Given the description of an element on the screen output the (x, y) to click on. 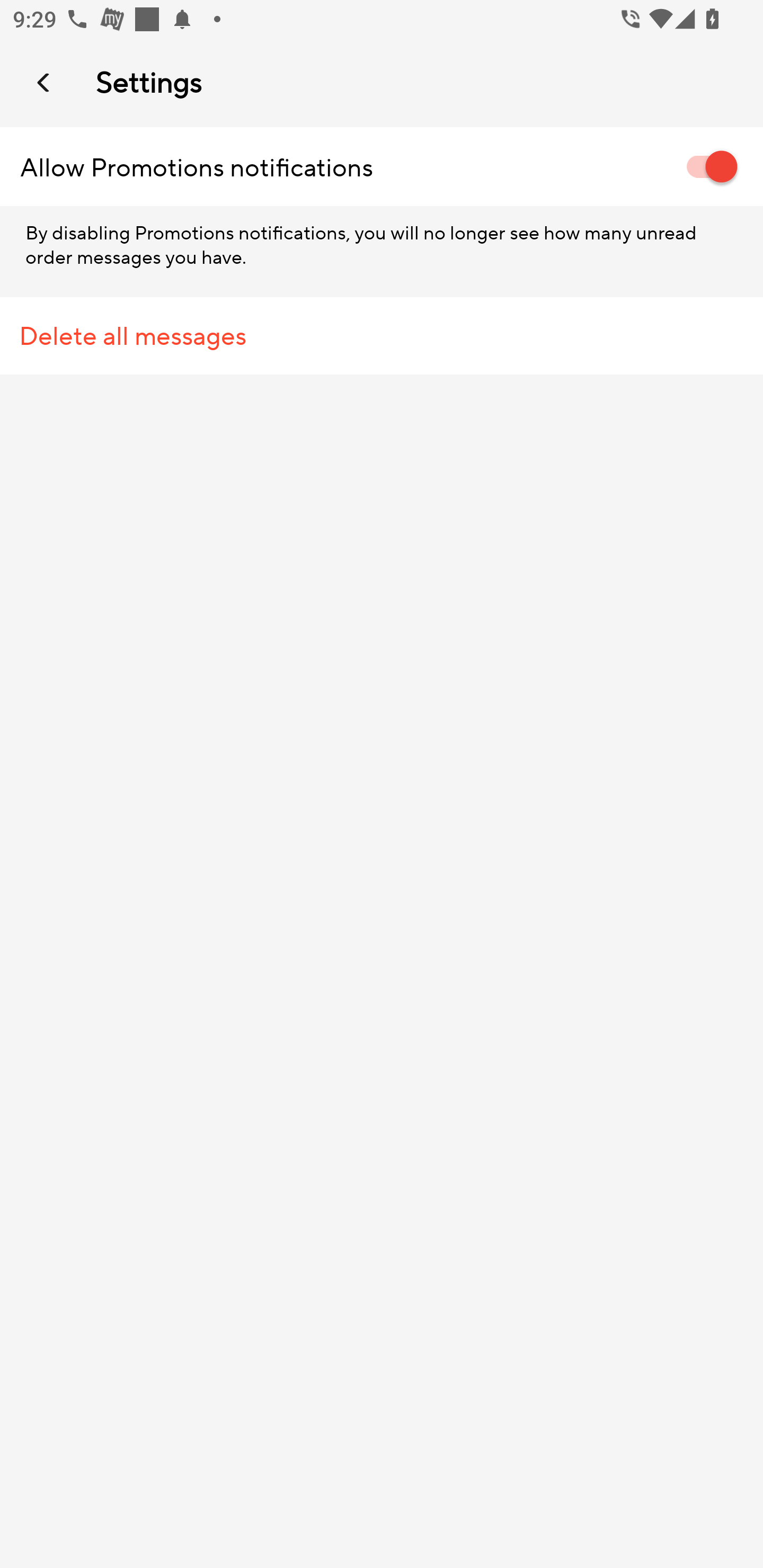
Navigate up (44, 82)
Delete all messages (381, 335)
